Given the description of an element on the screen output the (x, y) to click on. 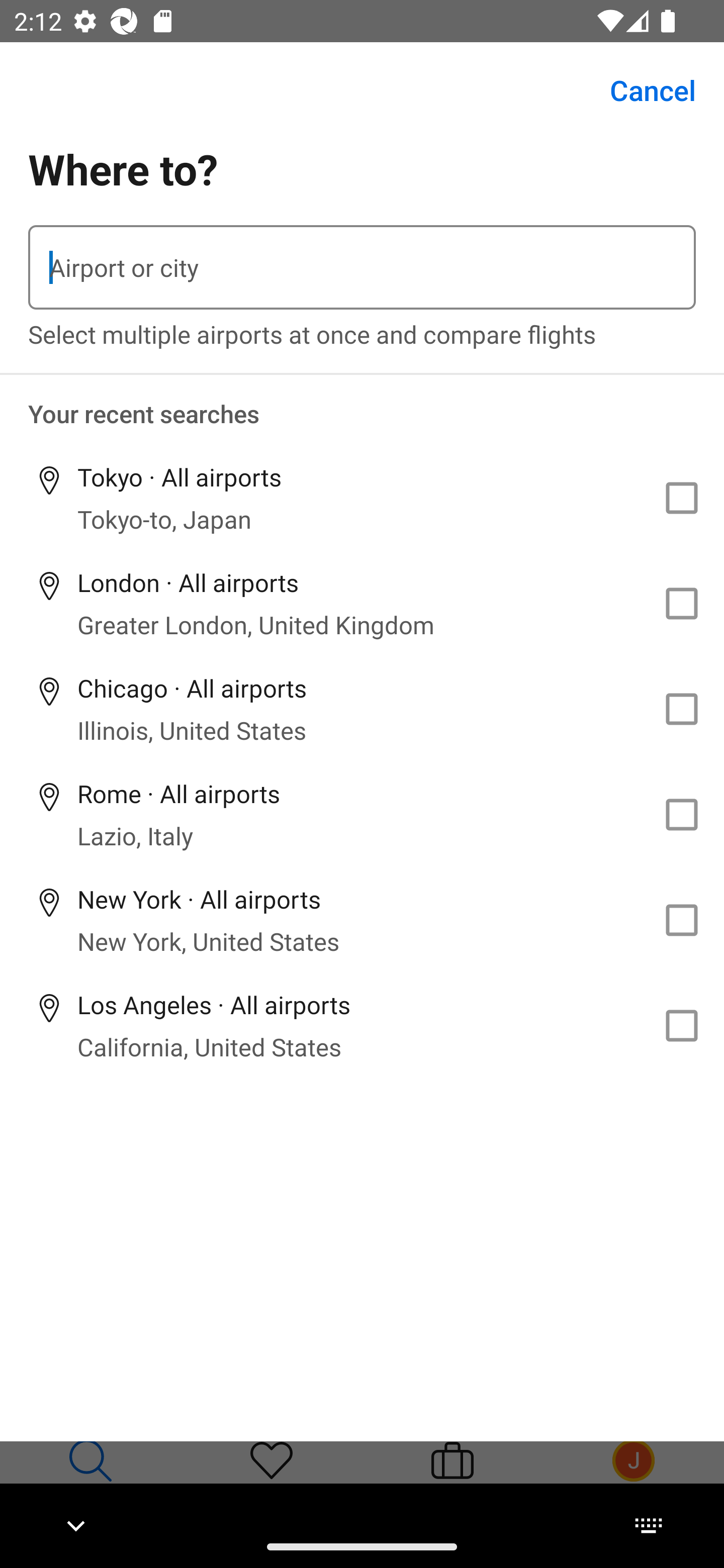
Cancel (641, 90)
Airport or city (361, 266)
Tokyo · All airports Tokyo-to, Japan (362, 497)
Chicago · All airports Illinois, United States (362, 709)
Rome · All airports Lazio, Italy (362, 814)
New York · All airports New York, United States (362, 920)
